Given the description of an element on the screen output the (x, y) to click on. 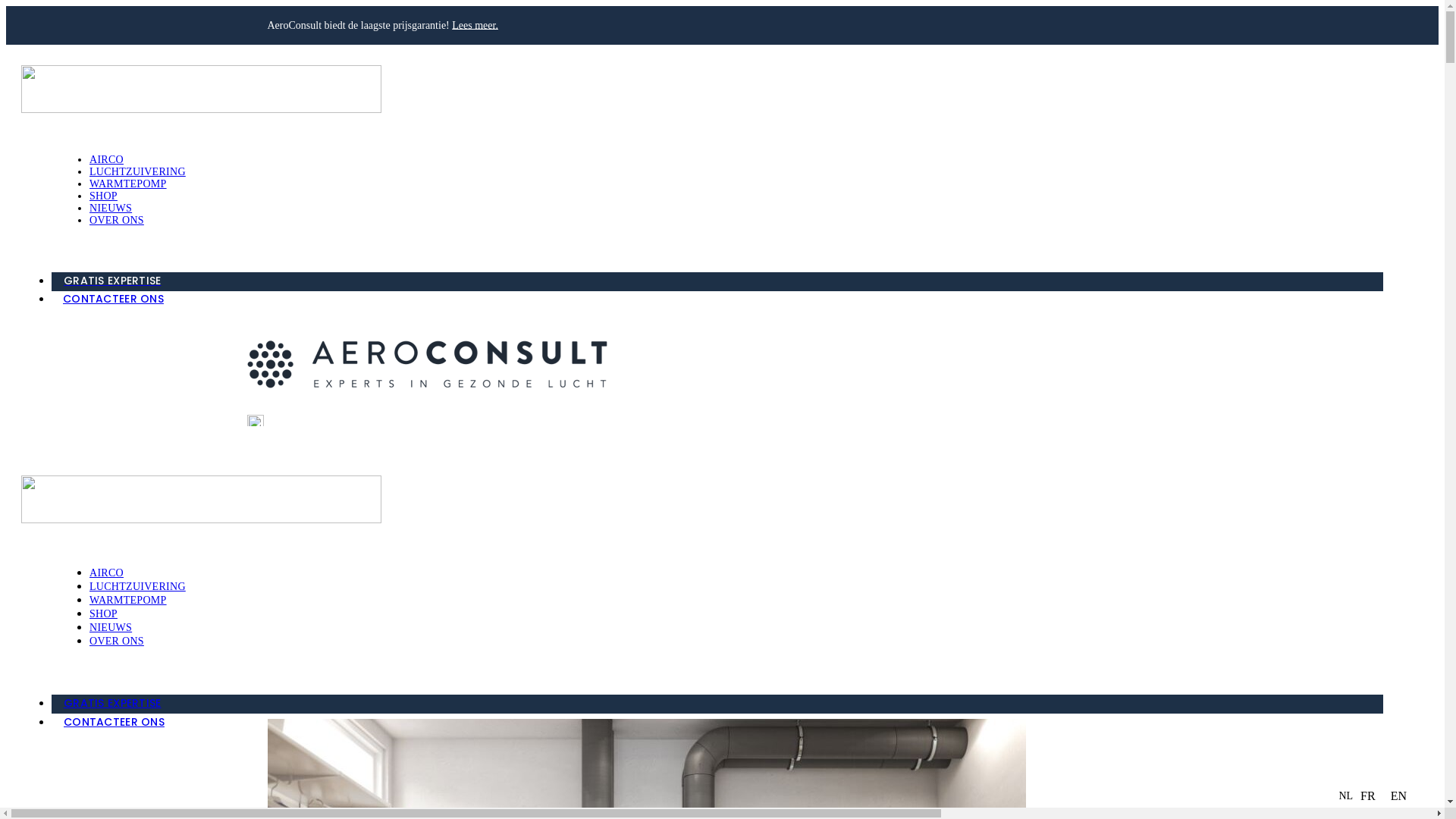
NIEUWS Element type: text (110, 627)
NIEUWS Element type: text (110, 207)
SHOP Element type: text (103, 195)
GRATIS EXPERTISE Element type: text (717, 281)
AIRCO Element type: text (106, 572)
WARMTEPOMP Element type: text (127, 599)
SHOP Element type: text (103, 613)
WARMTEPOMP Element type: text (127, 183)
LUCHTZUIVERING Element type: text (137, 586)
EN Element type: text (1398, 795)
AIRCO Element type: text (106, 159)
LUCHTZUIVERING Element type: text (137, 171)
FR Element type: text (1367, 795)
CONTACTEER ONS Element type: text (717, 722)
Lees meer. Element type: text (474, 24)
OVER ONS Element type: text (116, 640)
CONTACTEER ONS Element type: text (717, 299)
OVER ONS Element type: text (116, 219)
GRATIS EXPERTISE Element type: text (717, 703)
